Given the description of an element on the screen output the (x, y) to click on. 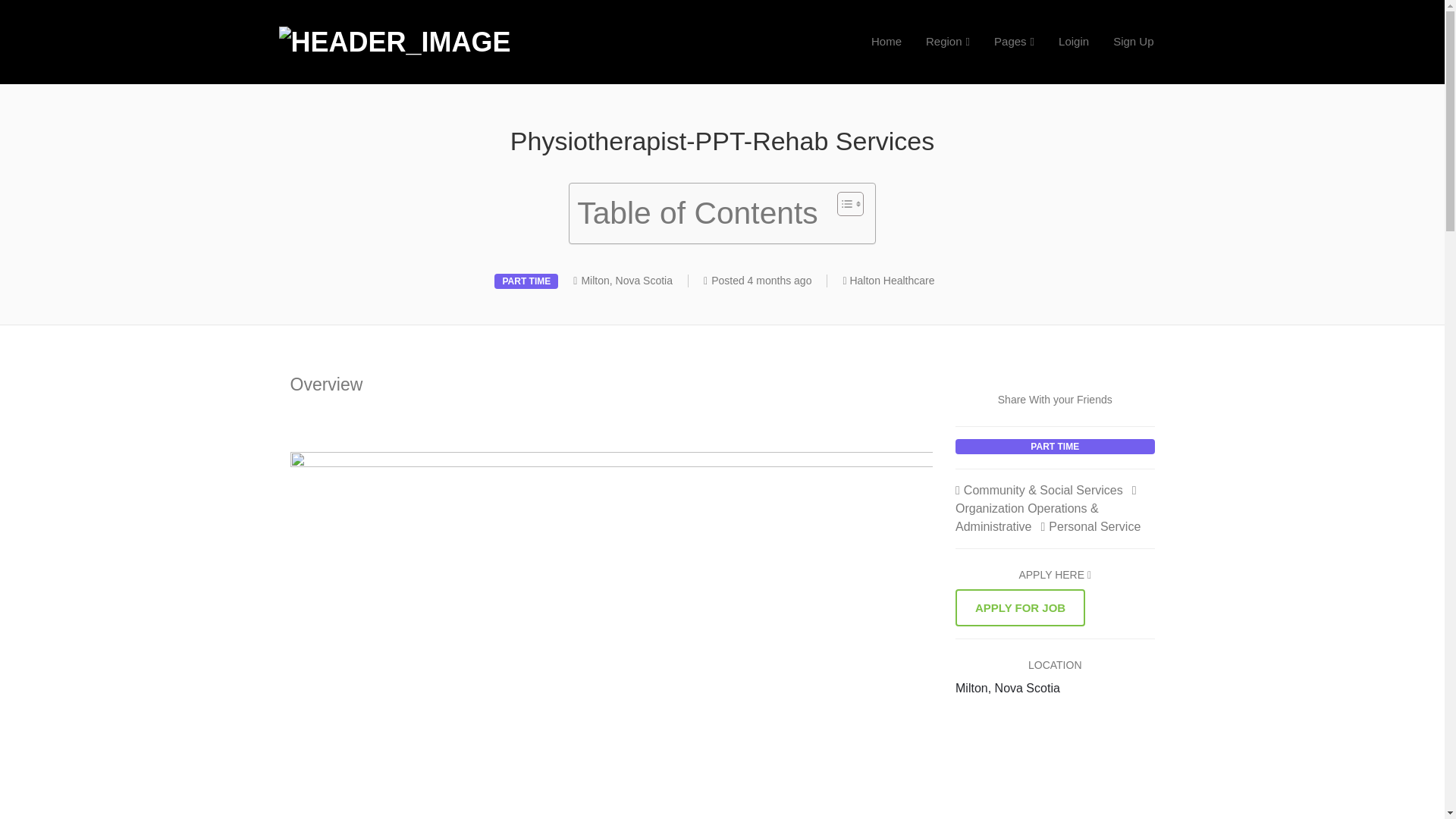
Milton, Nova Scotia (626, 280)
Halton Healthcare (891, 280)
Pages (1013, 41)
Loigin (1073, 41)
Region (947, 41)
Home (886, 41)
Sign Up (1133, 41)
